Given the description of an element on the screen output the (x, y) to click on. 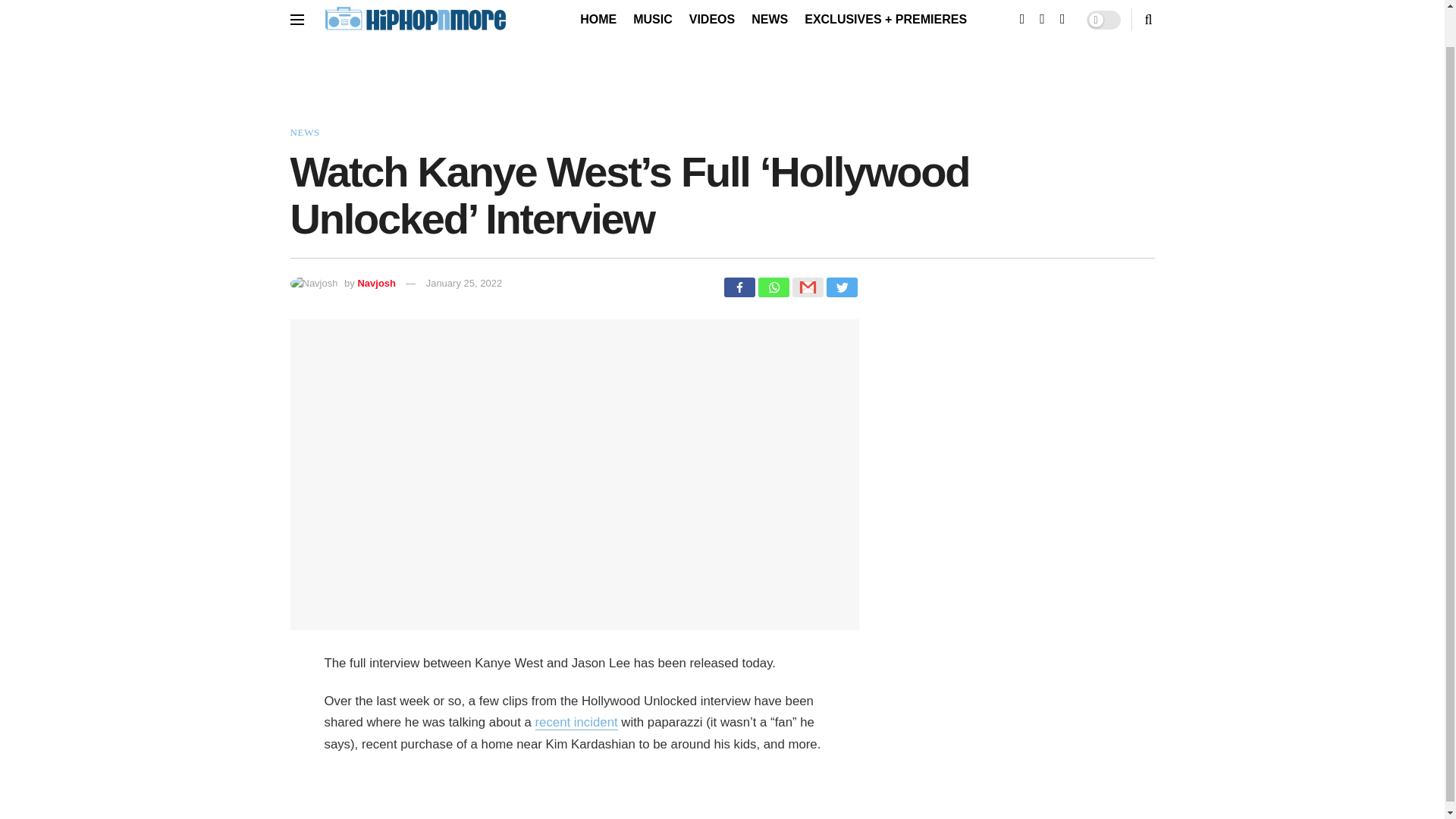
Google Gmail (807, 287)
MUSIC (652, 19)
Navjosh (376, 283)
Whatsapp (773, 287)
NEWS (769, 19)
January 25, 2022 (464, 283)
NEWS (303, 132)
VIDEOS (711, 19)
Facebook (738, 287)
Twitter (842, 287)
HOME (597, 19)
